Given the description of an element on the screen output the (x, y) to click on. 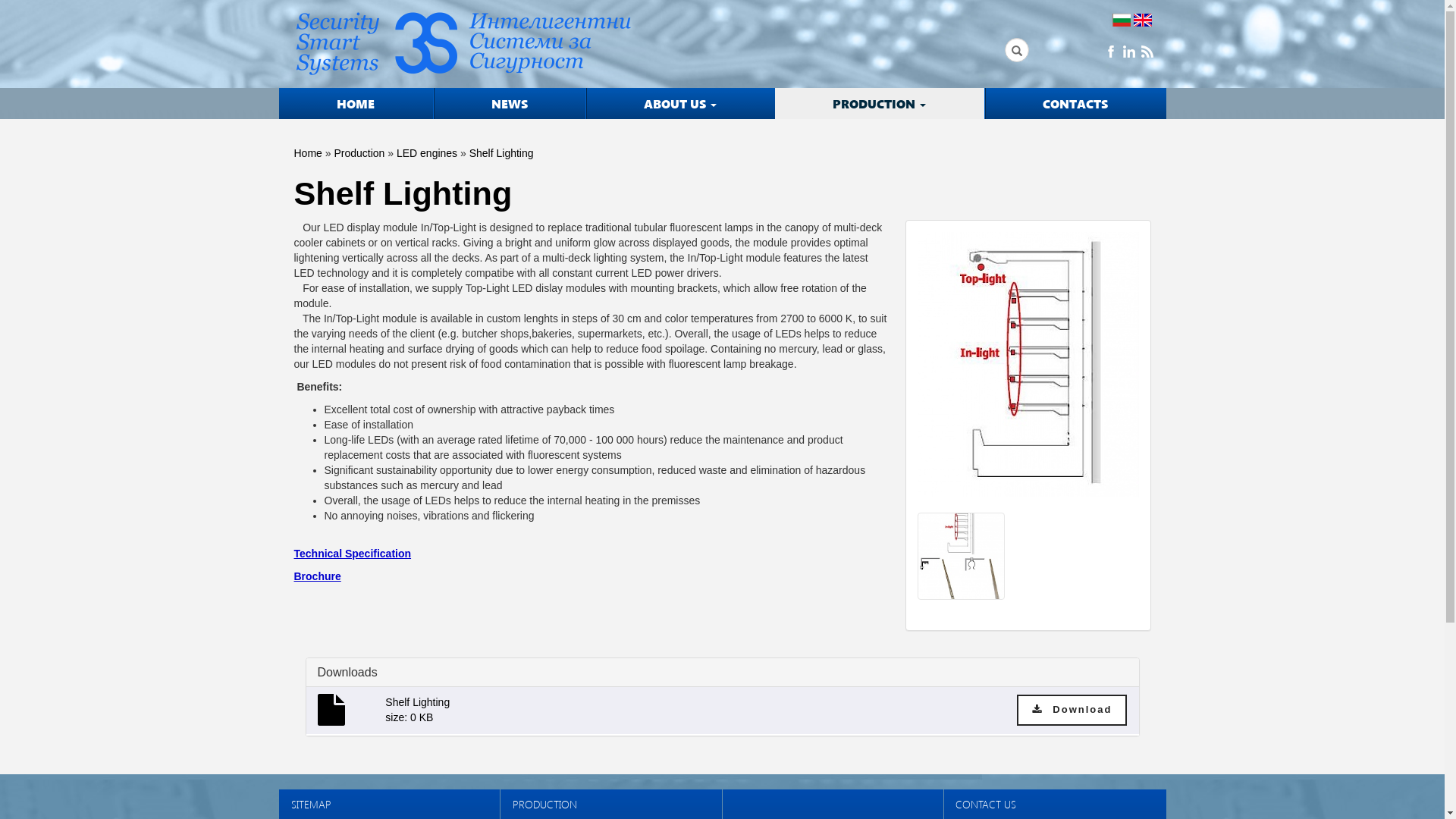
Home Element type: text (308, 153)
Brochure Element type: text (317, 576)
  Download Element type: text (1071, 709)
HOME Element type: text (356, 103)
Technical Specification Element type: text (352, 553)
NEWS Element type: text (509, 103)
PRODUCTION Element type: text (879, 103)
LED engines Element type: text (426, 153)
CONTACTS Element type: text (1074, 103)
Shelf Lighting Element type: hover (1028, 371)
ABOUT US Element type: text (679, 103)
Shelf Lighting Element type: text (501, 153)
Production Element type: text (358, 153)
